Given the description of an element on the screen output the (x, y) to click on. 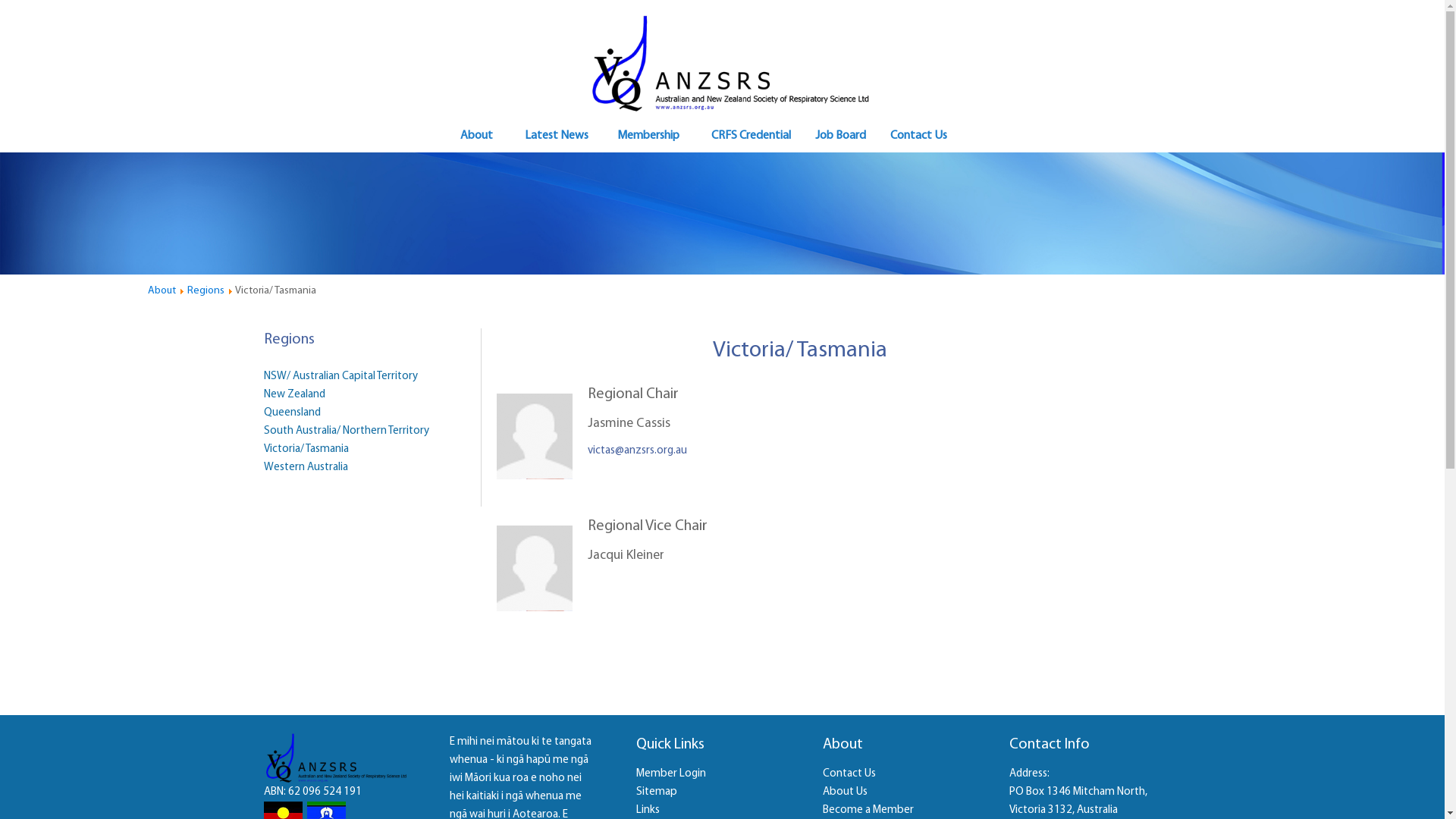
Job Board Element type: text (839, 135)
Sitemap Element type: text (656, 791)
Membership Element type: text (648, 135)
New Zealand Element type: text (294, 394)
CRFS Credential Element type: text (749, 135)
Victoria/ Tasmania Element type: text (305, 449)
Western Australia Element type: text (305, 467)
Become a Member Element type: text (867, 809)
Latest News Element type: text (555, 135)
About Element type: text (161, 290)
About Element type: text (476, 135)
Links Element type: text (647, 809)
victas@anzsrs.org.au Element type: text (637, 450)
Regions Element type: text (205, 290)
Queensland Element type: text (291, 412)
Contact Us Element type: text (848, 773)
Regional Chair Element type: text (632, 393)
About Us Element type: text (844, 791)
NSW/ Australian Capital Territory Element type: text (340, 376)
Regional Vice Chair Element type: text (647, 525)
Member Login Element type: text (671, 773)
Contact Us Element type: text (916, 135)
South Australia/ Northern Territory Element type: text (346, 430)
